Given the description of an element on the screen output the (x, y) to click on. 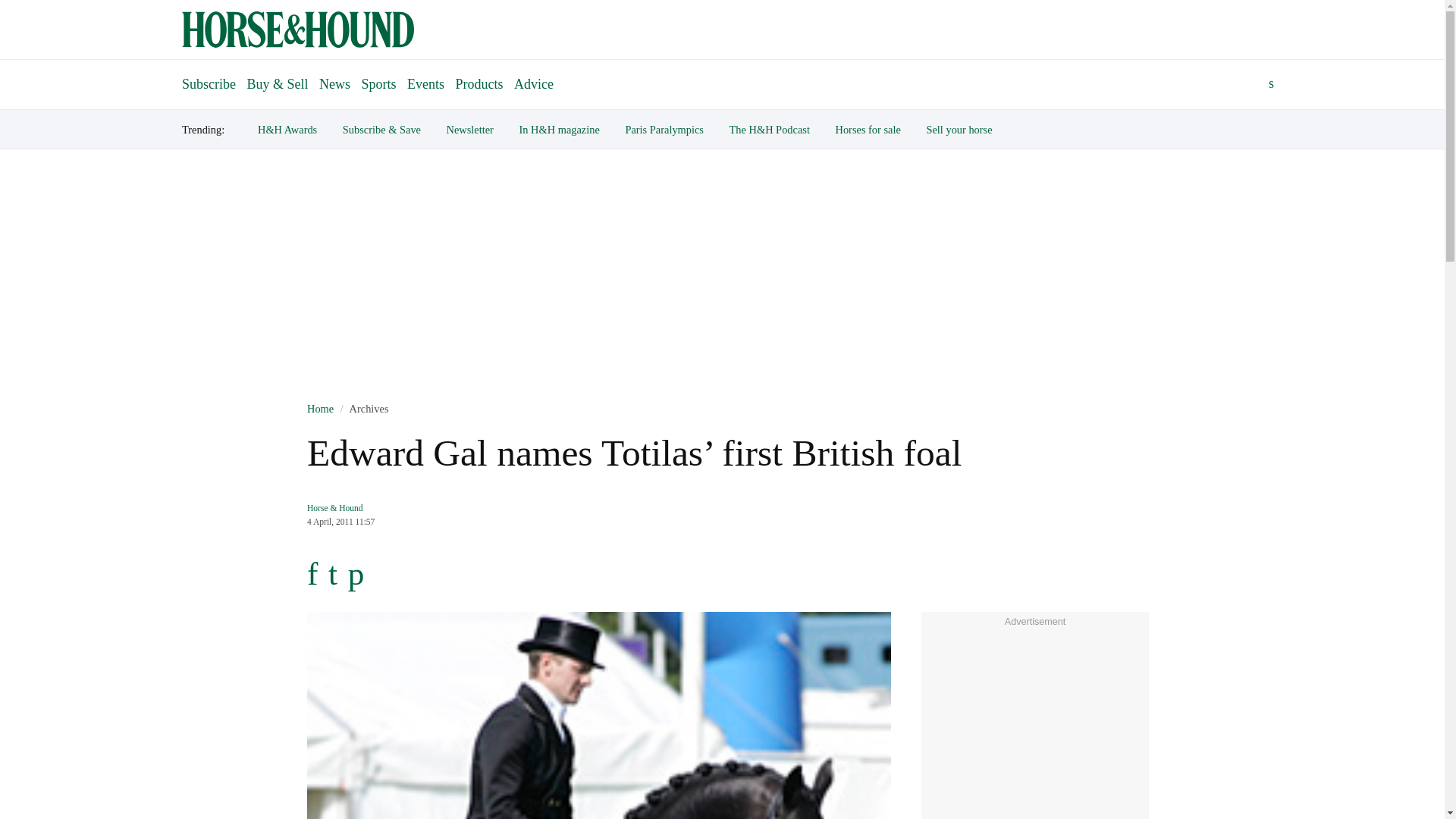
Products (478, 83)
Advice (534, 83)
Subscribe (208, 77)
Events (425, 83)
